Given the description of an element on the screen output the (x, y) to click on. 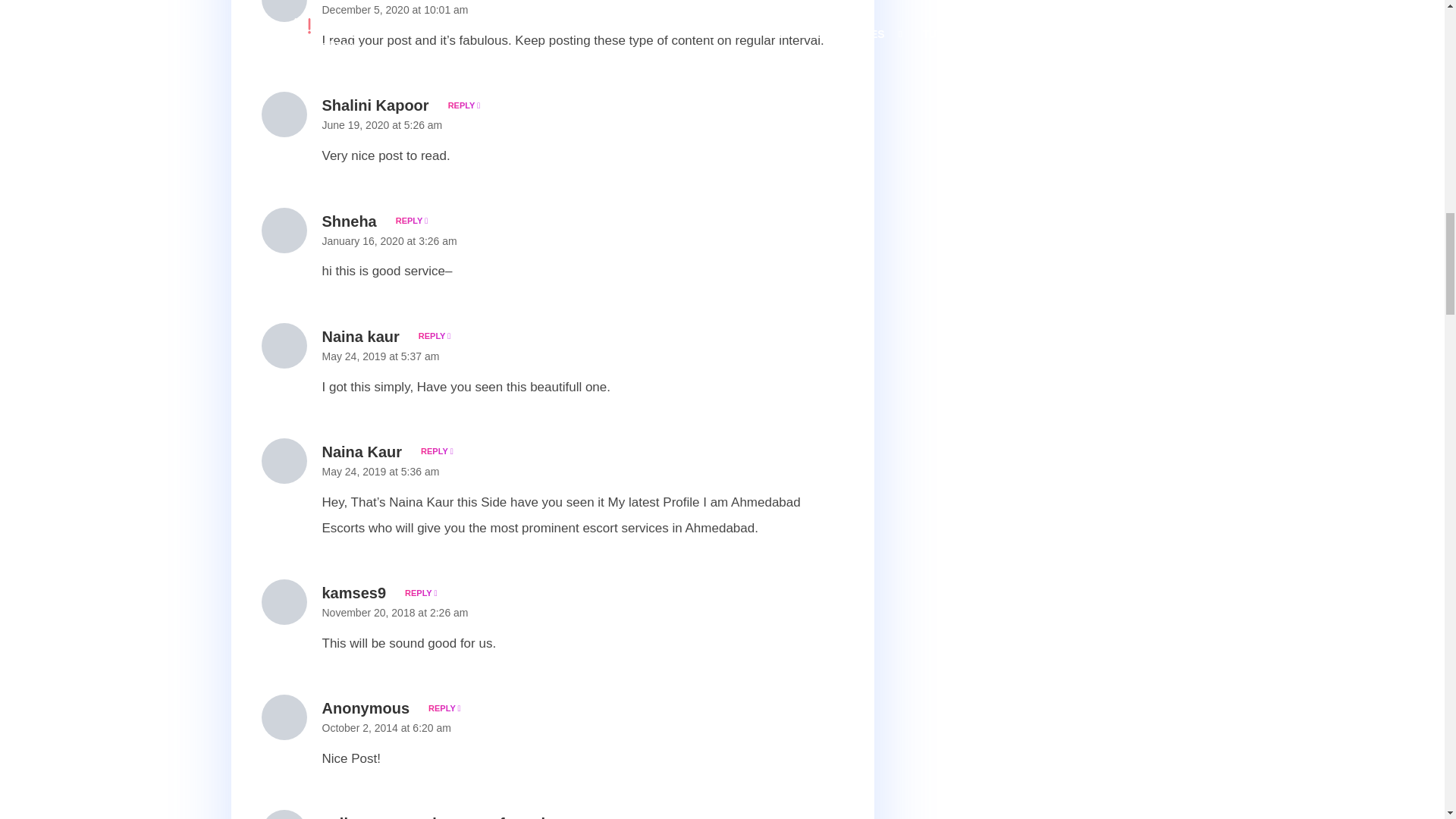
May 24, 2019 at 5:36 am (380, 471)
REPLY (461, 104)
December 5, 2020 at 10:01 am (394, 9)
November 20, 2018 at 2:26 am (394, 612)
May 24, 2019 at 5:36 am (380, 471)
REPLY (432, 335)
REPLY (433, 450)
May 24, 2019 at 5:37 am (380, 356)
October 2, 2014 at 6:20 am (385, 727)
January 16, 2020 at 3:26 am (389, 241)
June 19, 2020 at 5:26 am (381, 124)
REPLY (417, 592)
REPLY (409, 220)
June 19, 2020 at 5:26 am (381, 124)
December 5, 2020 at 10:01 am (394, 9)
